Given the description of an element on the screen output the (x, y) to click on. 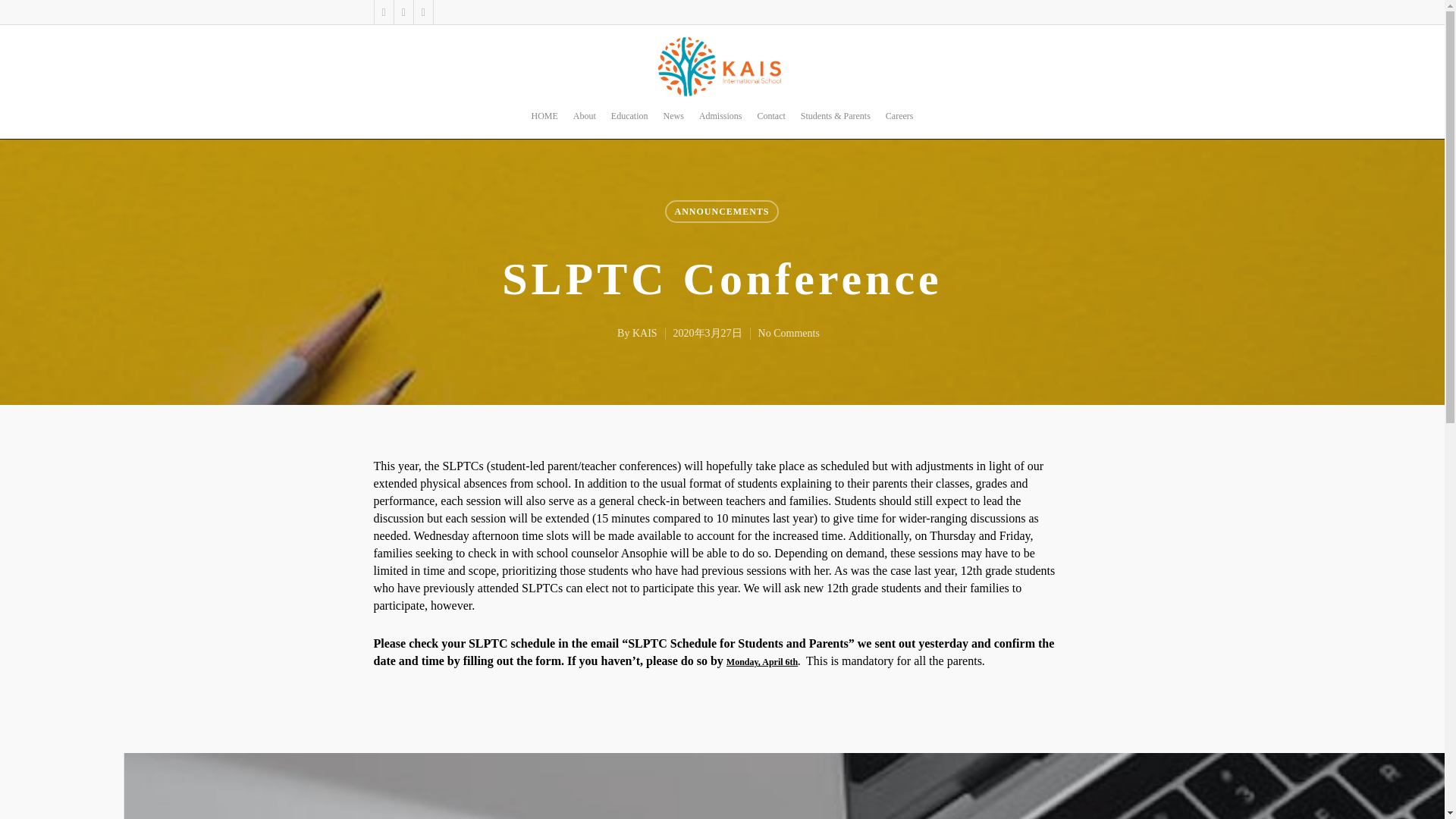
Posts by KAIS (644, 333)
KAIS (644, 333)
Education (629, 123)
DLP Feedback Survey (789, 785)
ANNOUNCEMENTS (721, 210)
Contact (771, 123)
No Comments (788, 333)
Admissions (720, 123)
Careers (899, 123)
